Given the description of an element on the screen output the (x, y) to click on. 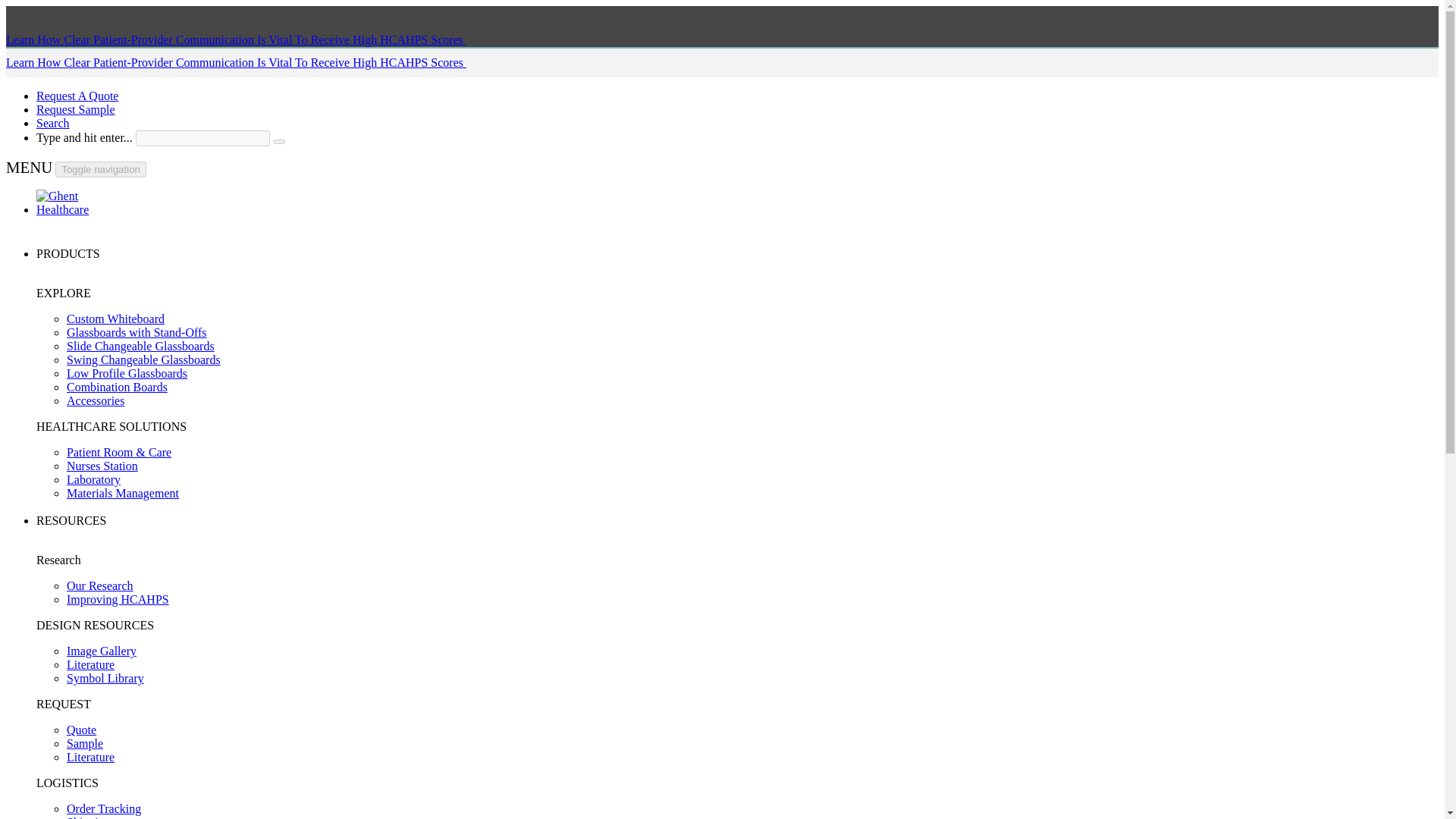
Symbol Library (105, 677)
Search (52, 123)
Request A Quote (76, 95)
Shipping (88, 817)
Nurses Station (102, 465)
Literature (90, 757)
Order Tracking (103, 808)
Glassboards with Stand-Offs (136, 332)
Image Gallery (101, 650)
RESOURCES (71, 520)
Request Sample (75, 109)
Custom Whiteboard (115, 318)
Swing Changeable Glassboards (143, 359)
